Given the description of an element on the screen output the (x, y) to click on. 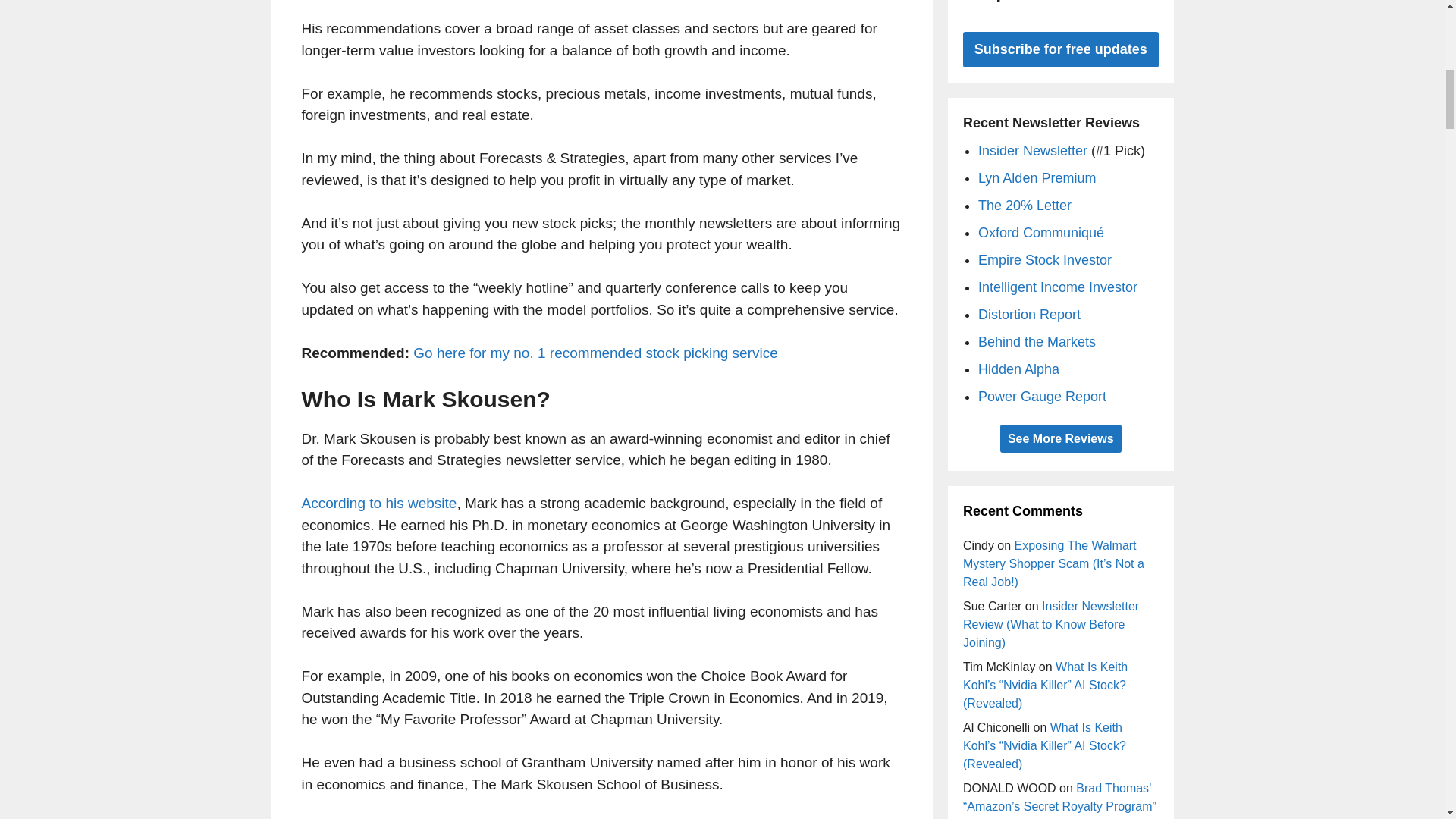
According to his website (379, 503)
Go here for my no. 1 recommended stock picking service (595, 351)
